Given the description of an element on the screen output the (x, y) to click on. 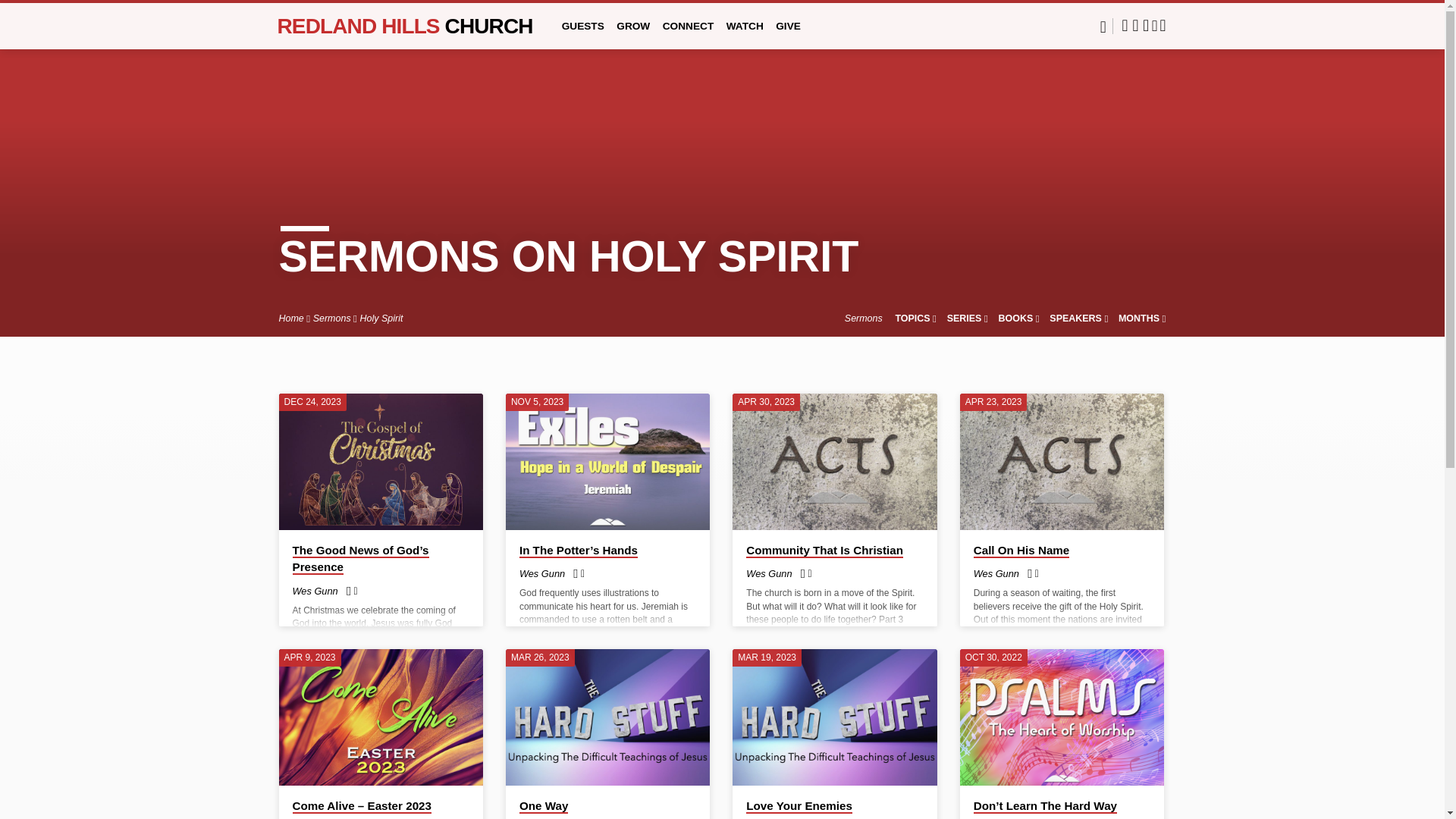
SPEAKERS (1078, 317)
MONTHS (1142, 317)
GROW (632, 35)
Holy Spirit (381, 317)
GUESTS (583, 35)
Home (291, 317)
REDLAND HILLS CHURCH (405, 24)
Sermons (331, 317)
SERIES (967, 317)
CONNECT (688, 35)
